Given the description of an element on the screen output the (x, y) to click on. 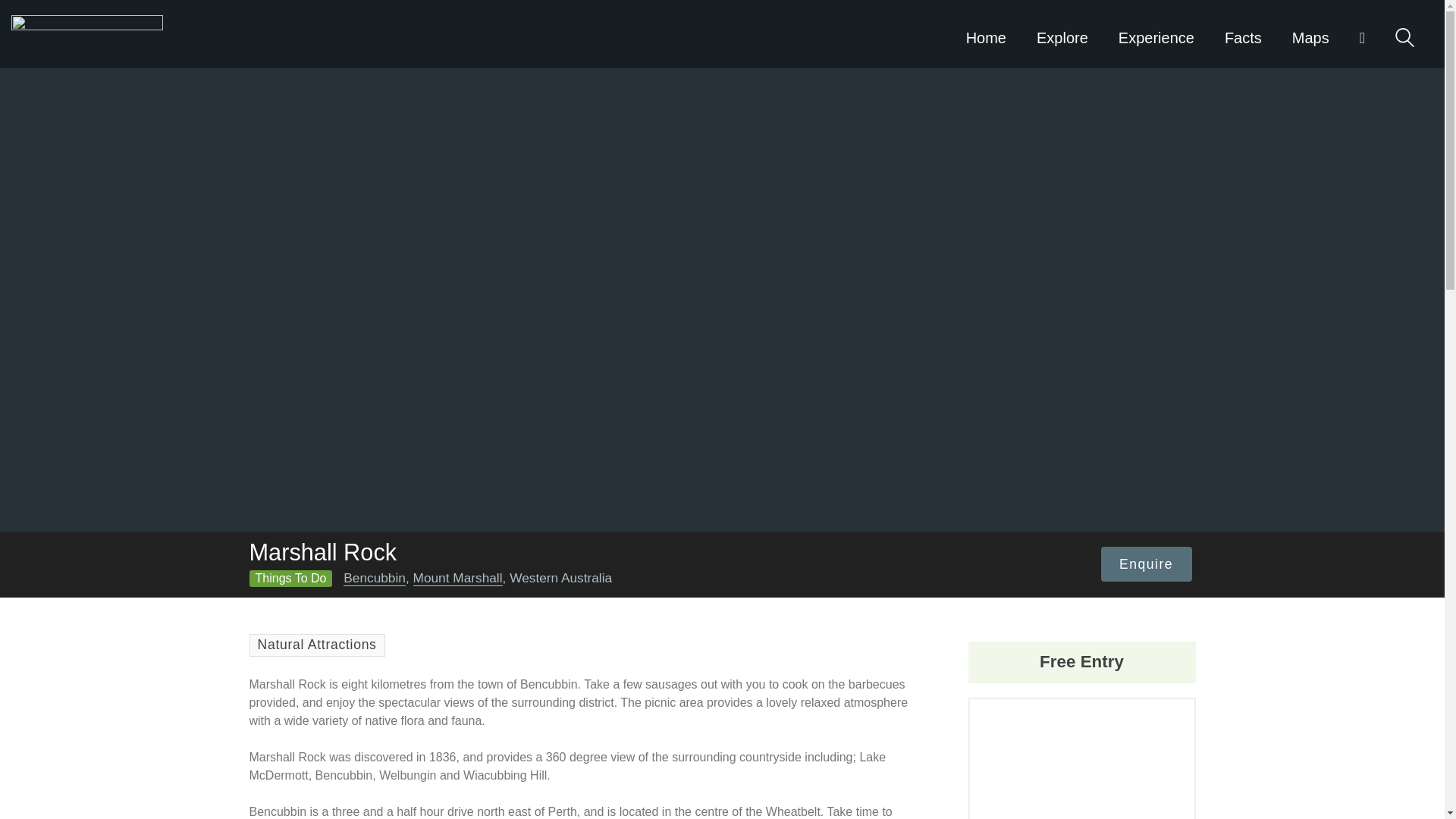
Search (1403, 36)
Mount Marshall (457, 578)
Bencubbin (374, 578)
Experience (1155, 33)
Things To Do (289, 578)
Enquire (1146, 564)
